Given the description of an element on the screen output the (x, y) to click on. 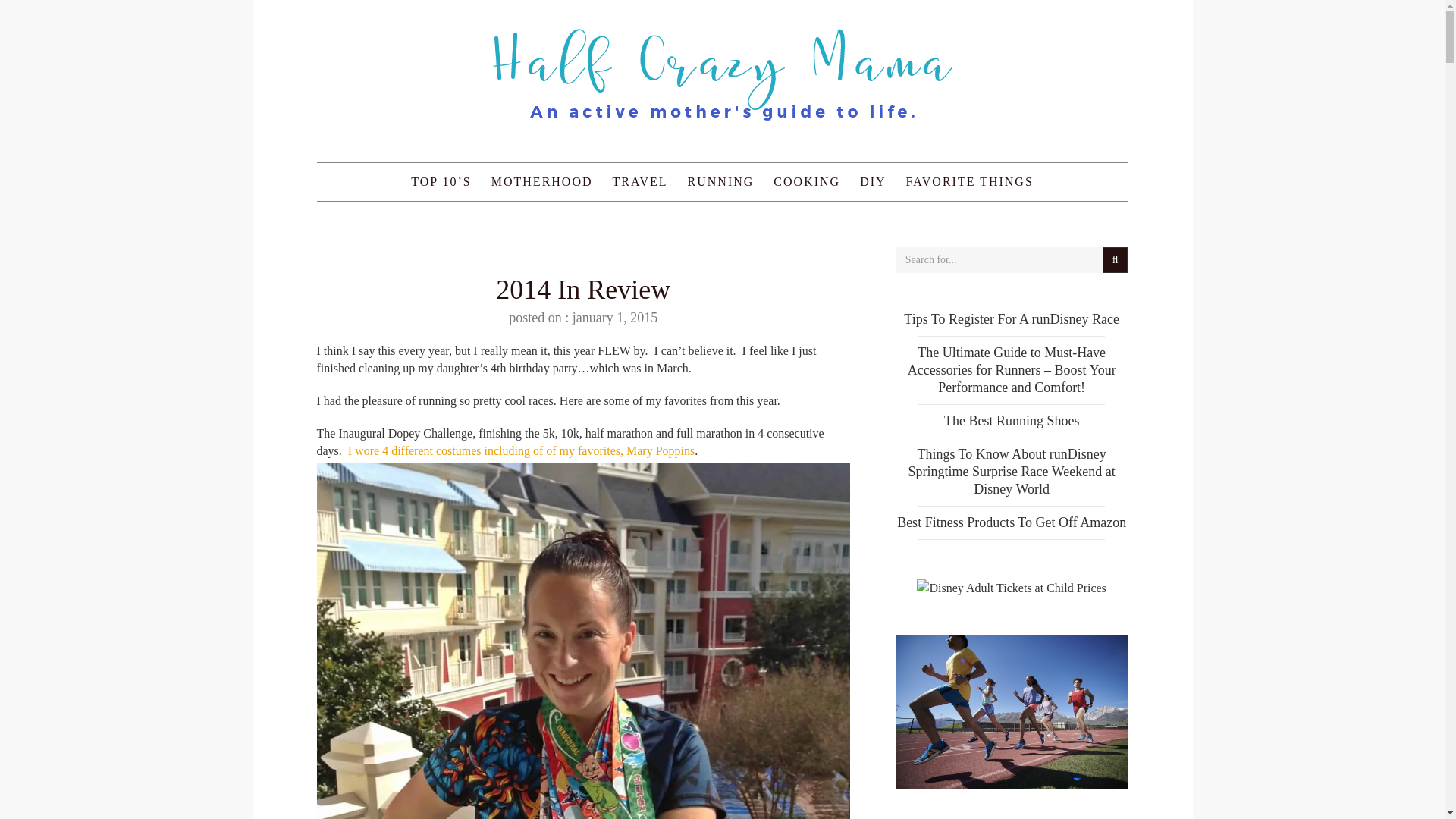
TRAVEL (640, 181)
RUNNING (721, 181)
DIY (872, 181)
FAVORITE THINGS (969, 181)
COOKING (806, 181)
posted on : january 1, 2015 (583, 317)
MOTHERHOOD (541, 181)
